Given the description of an element on the screen output the (x, y) to click on. 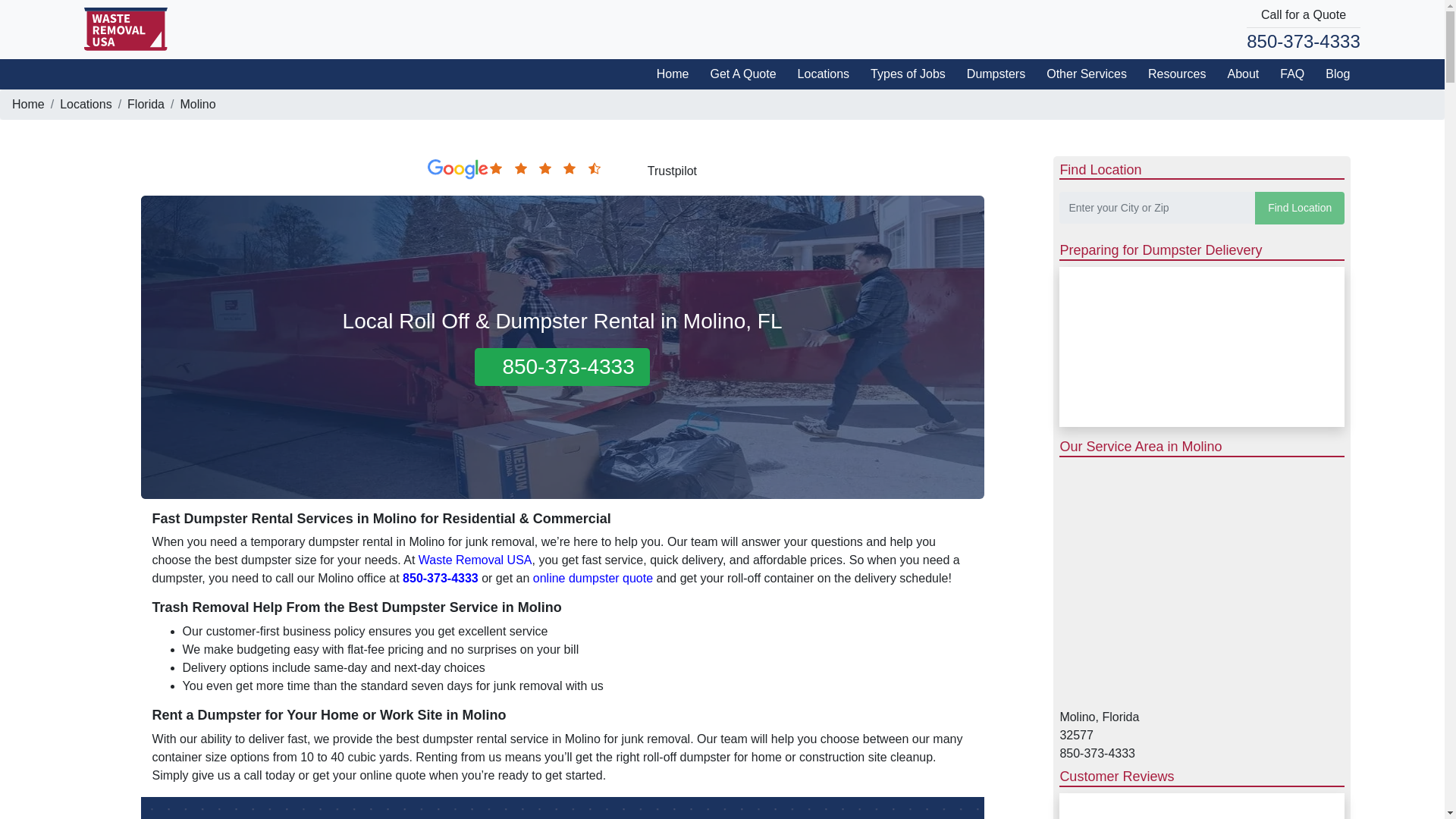
FAQ (1286, 73)
Waste Removal USA (125, 28)
Florida (146, 103)
Locations (818, 73)
Find Location (1299, 207)
Get A Quote (737, 73)
Blog (1331, 73)
About (1237, 73)
Locations (85, 103)
Waste Removal USA (475, 559)
